Given the description of an element on the screen output the (x, y) to click on. 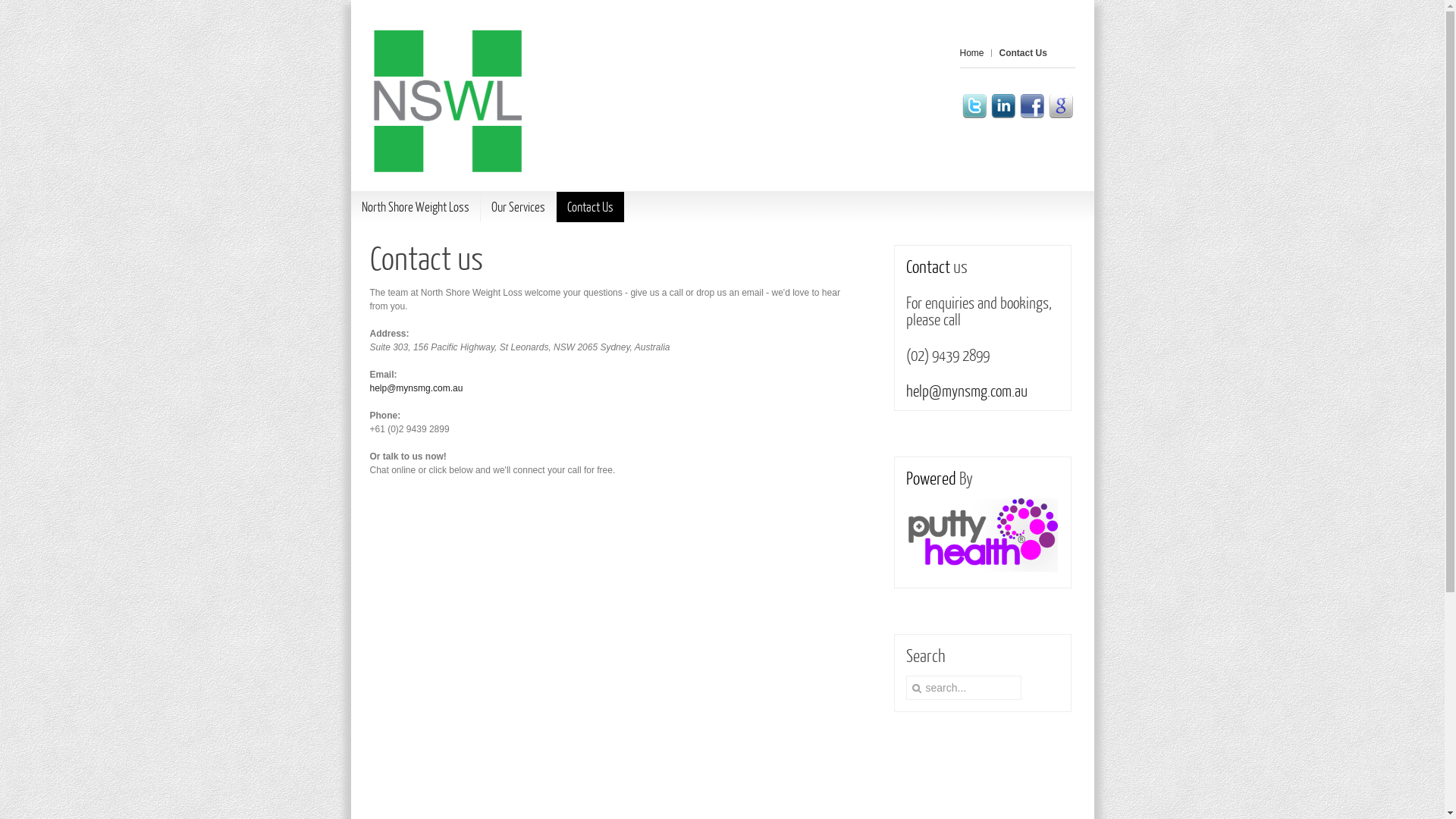
North Shore Weightloss Services - Home Element type: hover (445, 101)
Follow us on Linkedin Element type: hover (1002, 106)
help@mynsmg.com.au Element type: text (965, 389)
Go to Claydata's website Element type: hover (981, 568)
Contact Us Element type: text (590, 206)
help@mynsmg.com.au Element type: text (416, 387)
North Shore Weight Loss Element type: text (414, 206)
Our Services Element type: text (517, 206)
Follow us on Google Element type: hover (1060, 106)
Follow us on Twitter Element type: hover (973, 106)
Home Element type: text (975, 52)
Reset Element type: text (7, 4)
Follow us on Facebook Element type: hover (1031, 106)
